Given the description of an element on the screen output the (x, y) to click on. 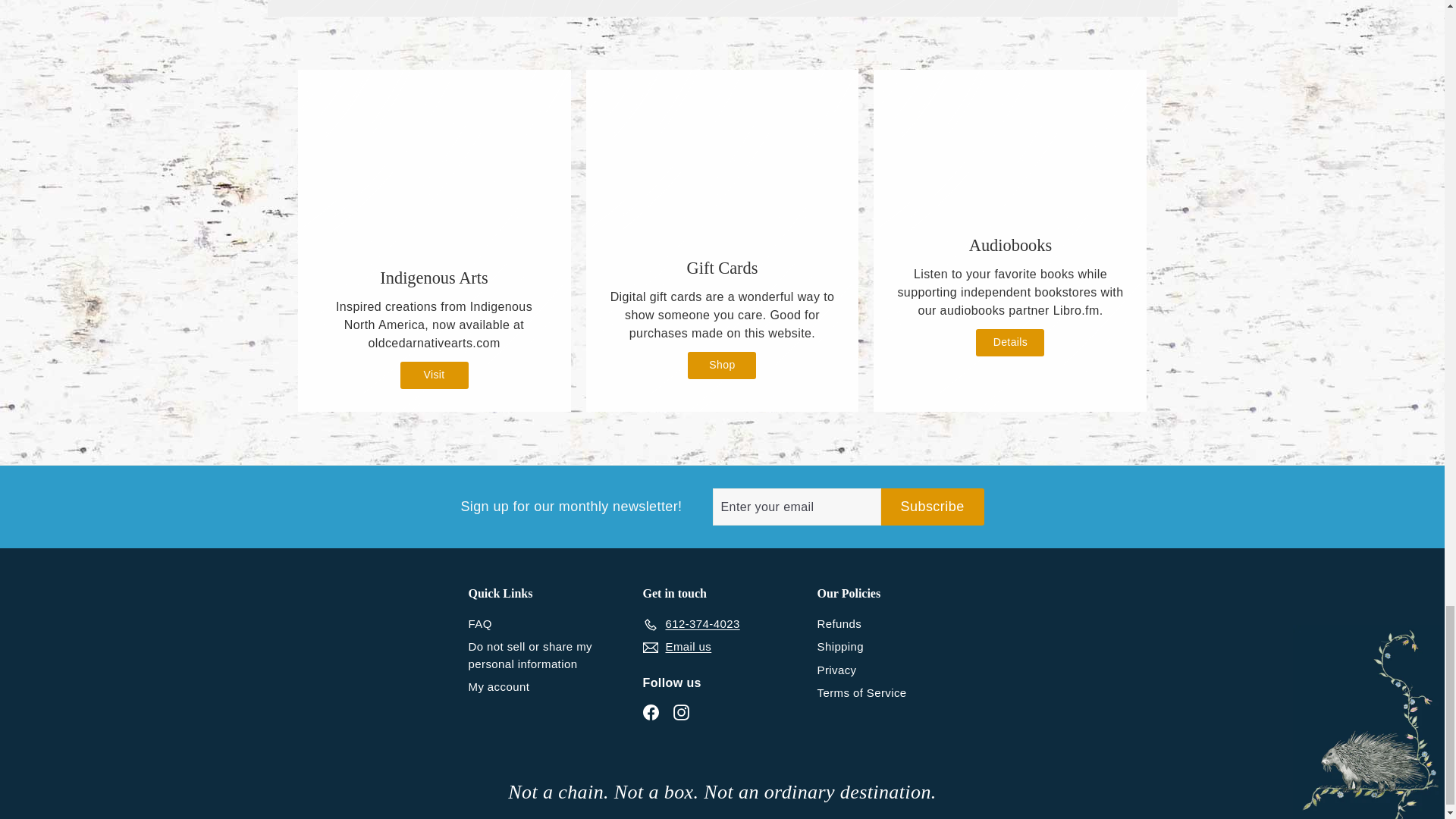
Birchbark Books on Instagram (680, 712)
Birchbark Books on Facebook (651, 712)
instagram (680, 712)
